Given the description of an element on the screen output the (x, y) to click on. 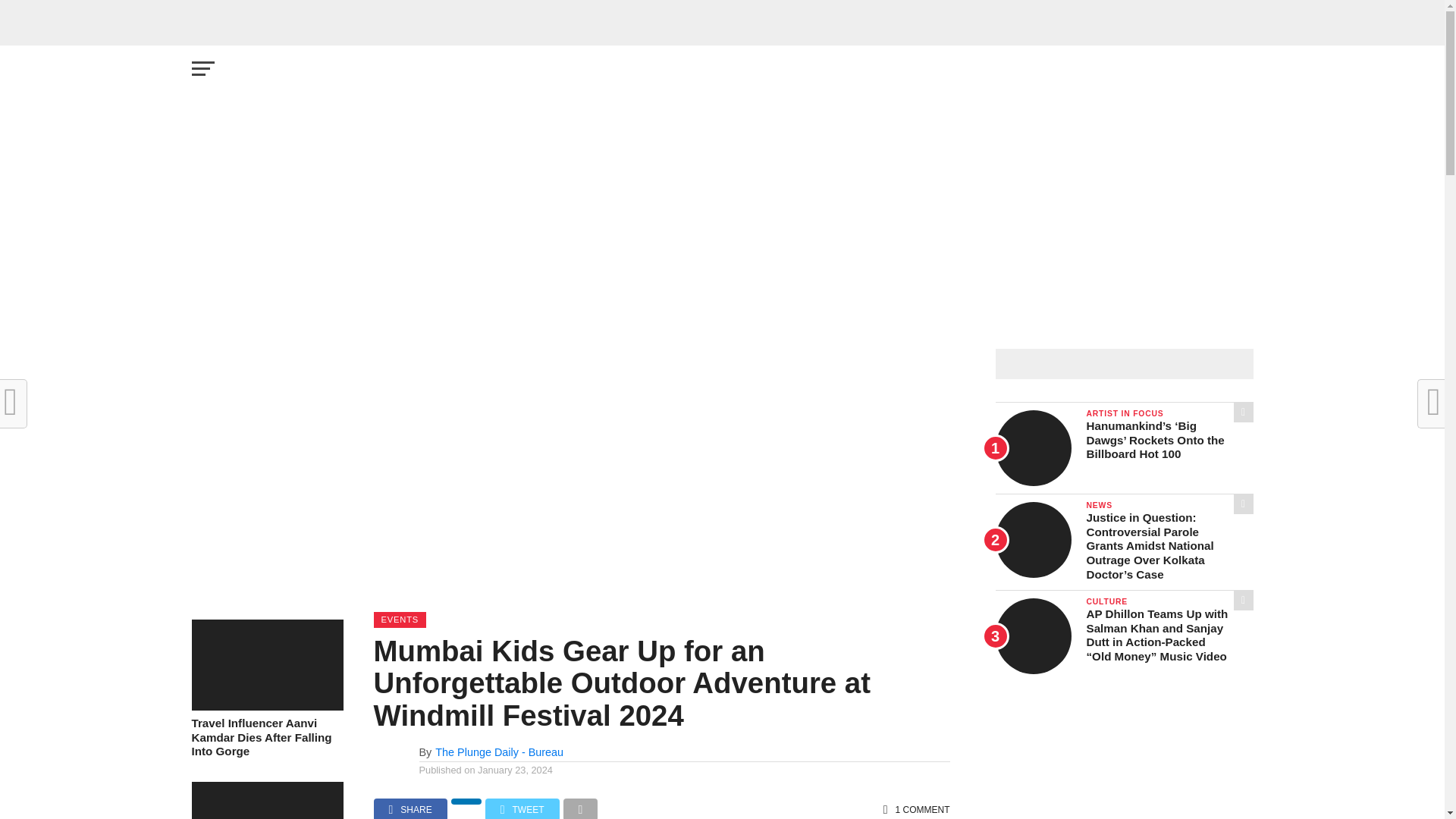
Travel Influencer Aanvi Kamdar Dies After Falling Into Gorge (266, 737)
The Plunge Daily - Bureau (499, 752)
Posts by The Plunge Daily - Bureau (499, 752)
Travel Influencer Aanvi Kamdar Dies After Falling Into Gorge (266, 706)
